Given the description of an element on the screen output the (x, y) to click on. 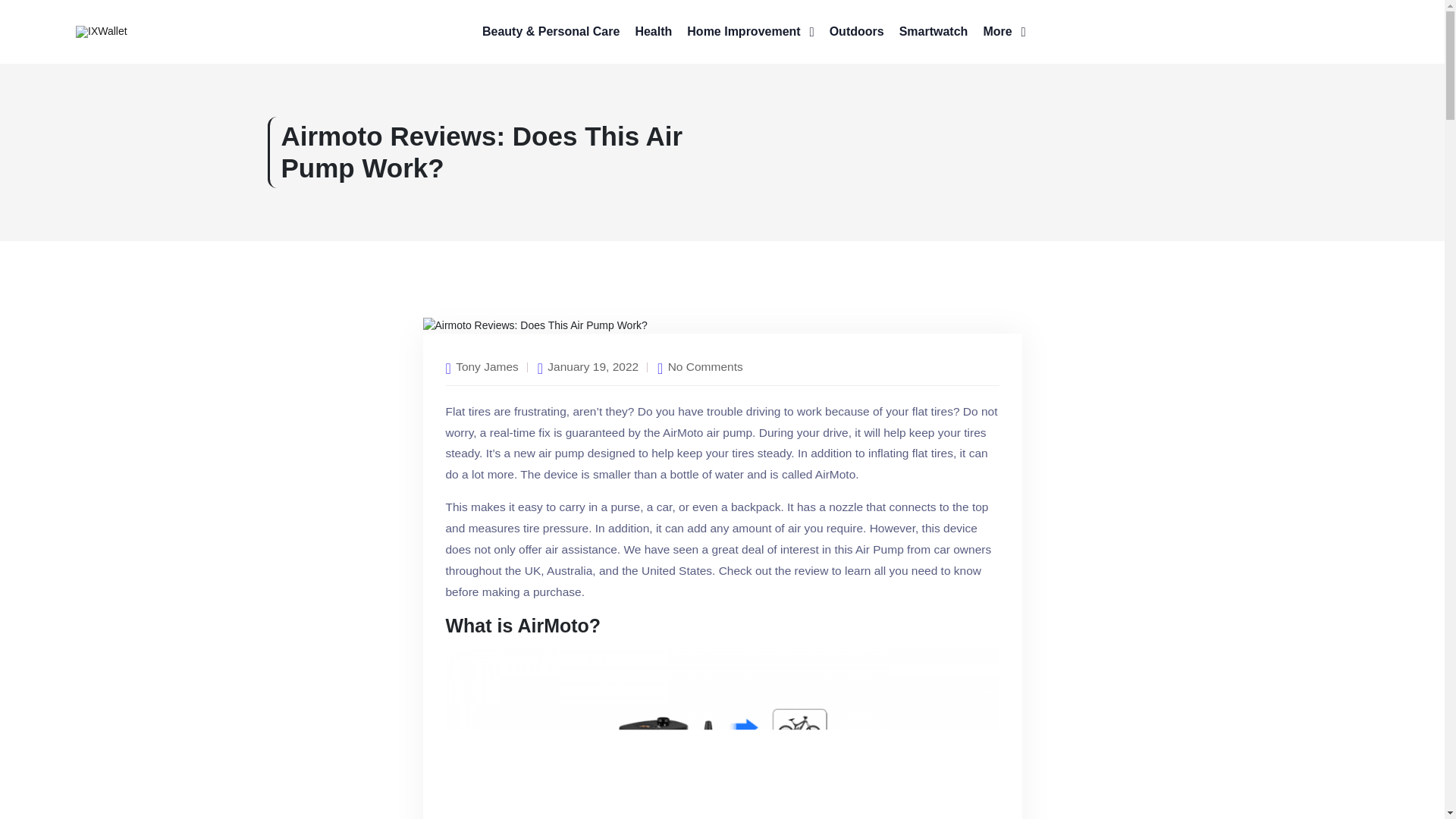
Smartwatch (933, 31)
Smartwatch (933, 31)
Tony James (486, 366)
Home Improvement (750, 31)
Home Improvement (750, 31)
